Given the description of an element on the screen output the (x, y) to click on. 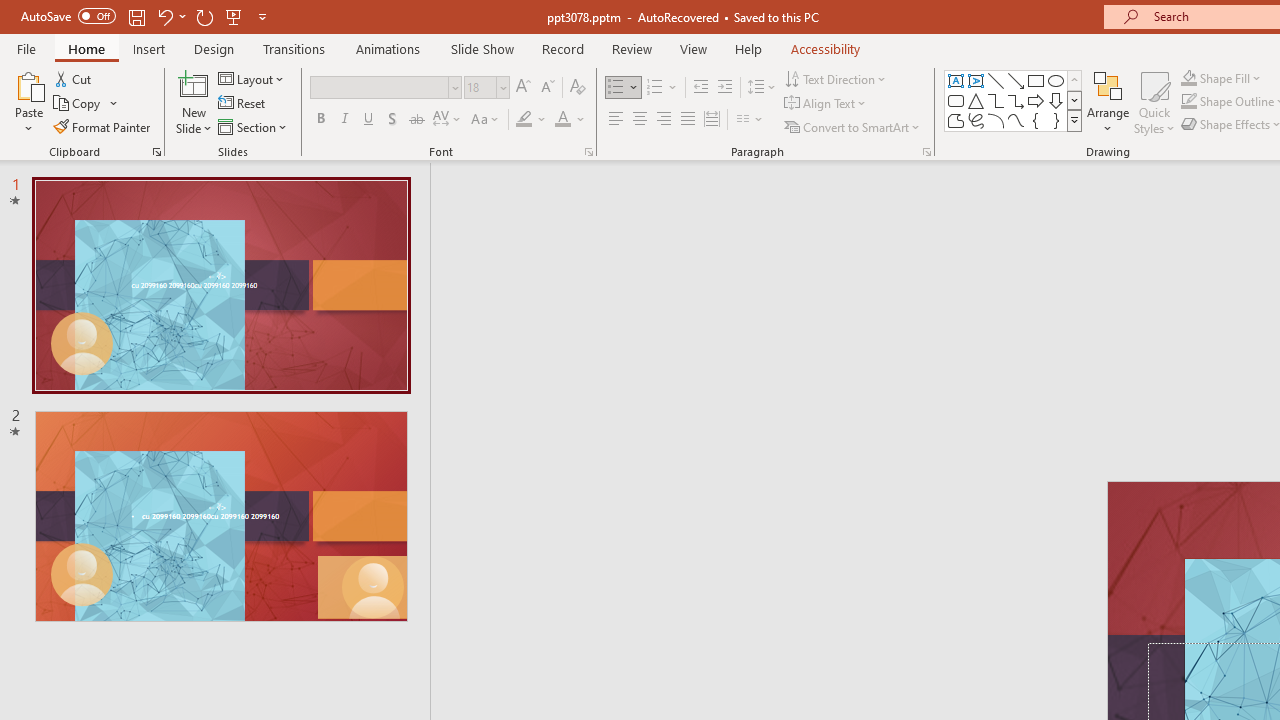
Cut (73, 78)
Right Brace (1055, 120)
Curve (1016, 120)
Left Brace (1035, 120)
Font Color Red (562, 119)
Arrange (1108, 102)
Arrow: Down (1055, 100)
Arrow: Right (1035, 100)
